Given the description of an element on the screen output the (x, y) to click on. 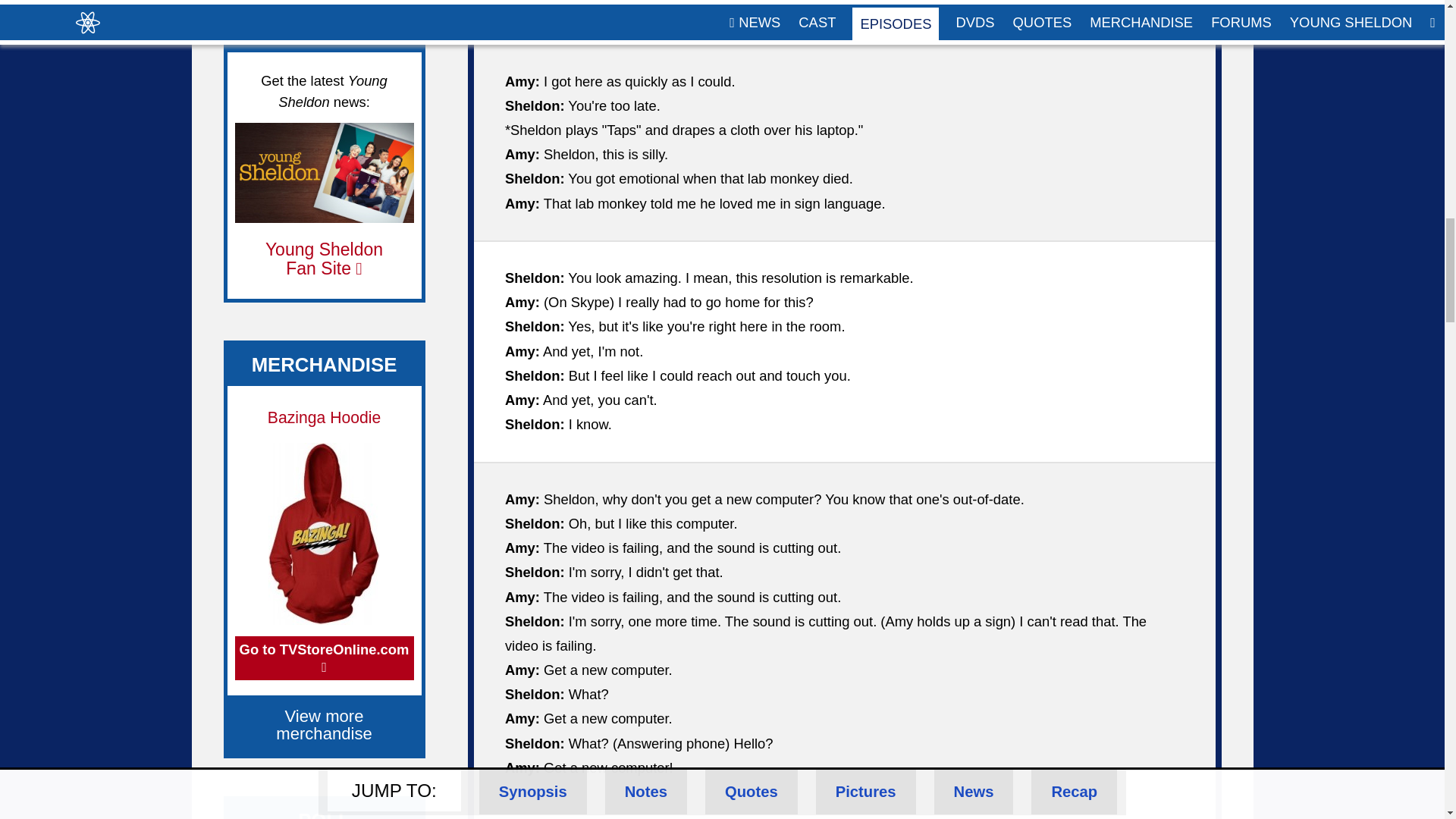
Young Sheldon Fan Site  (323, 258)
Go to TVStoreOnline.com (323, 658)
View more merchandise (324, 724)
Bazinga Hoodie (323, 416)
